Given the description of an element on the screen output the (x, y) to click on. 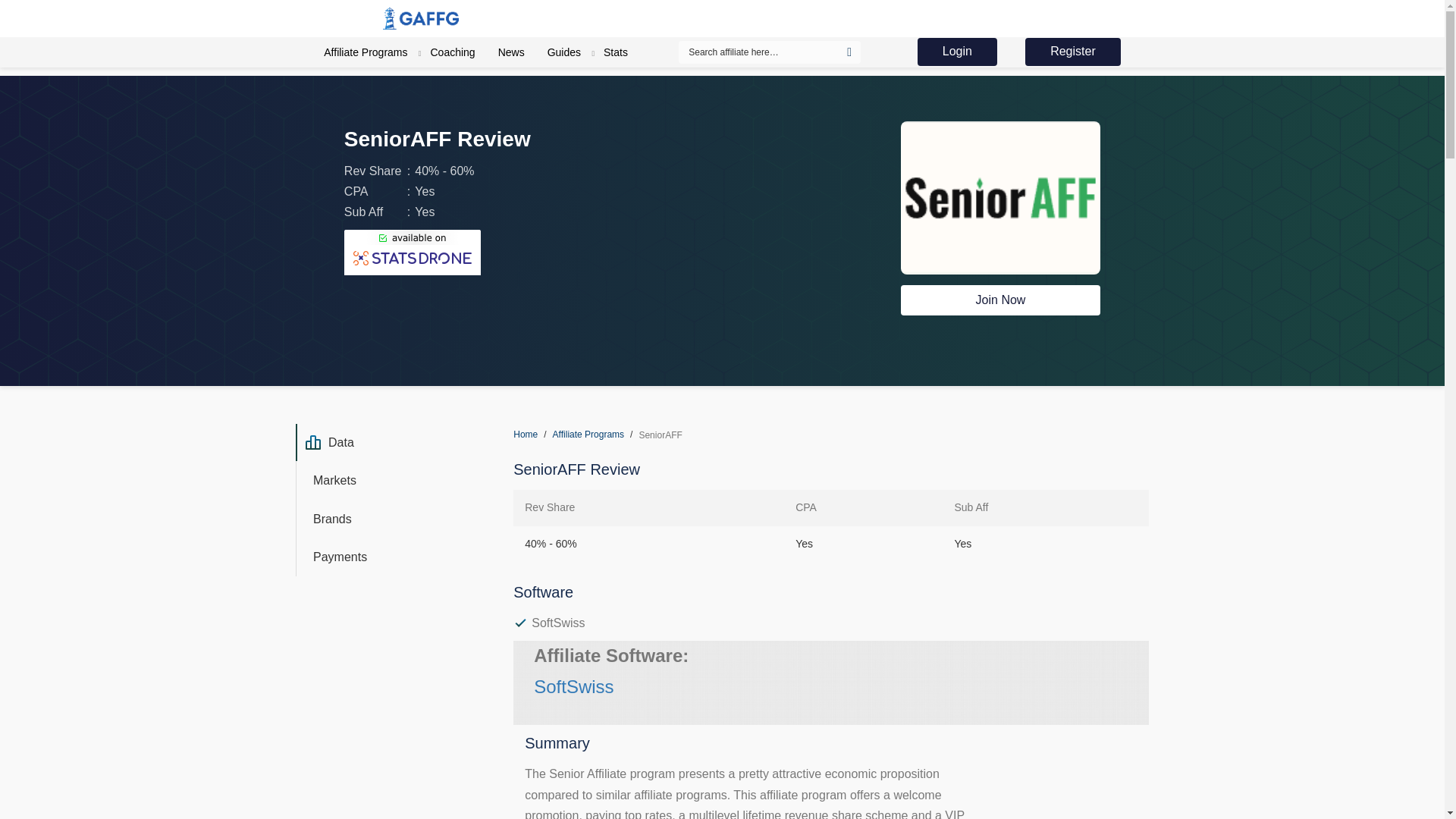
Guides (563, 51)
Login (957, 51)
Home (532, 434)
Payments (395, 556)
Affiliate Programs (596, 434)
Brands (395, 518)
Data (395, 442)
Join Now (1000, 300)
Markets (395, 480)
Register (1073, 51)
SoftSwiss (573, 686)
Coaching (453, 51)
Affiliate Programs (365, 51)
